Given the description of an element on the screen output the (x, y) to click on. 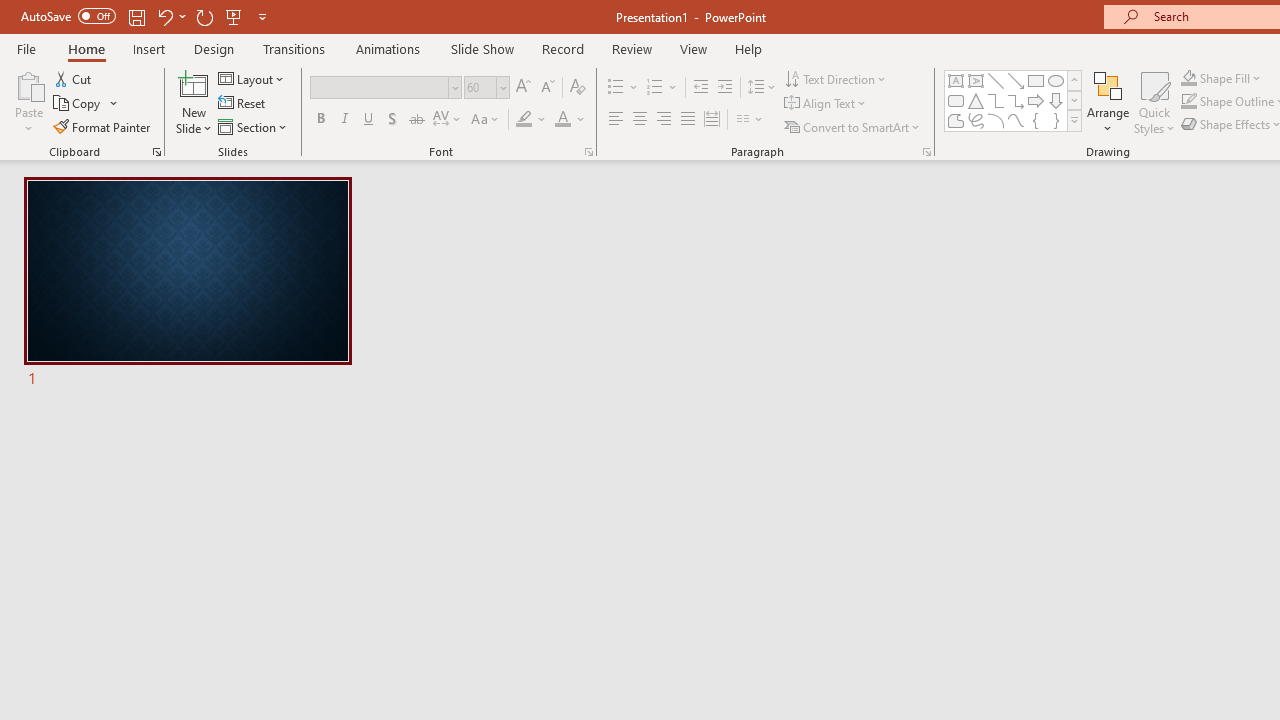
Office Clipboard... (156, 151)
Underline (369, 119)
Layout (252, 78)
Cut (73, 78)
Decrease Font Size (547, 87)
Freeform: Scribble (975, 120)
More Options (1232, 78)
Freeform: Shape (955, 120)
Arrange (1108, 102)
Bullets (623, 87)
Justify (687, 119)
Font (385, 87)
Redo (204, 15)
Slide Show (481, 48)
Shape Fill Orange, Accent 2 (1188, 78)
